Given the description of an element on the screen output the (x, y) to click on. 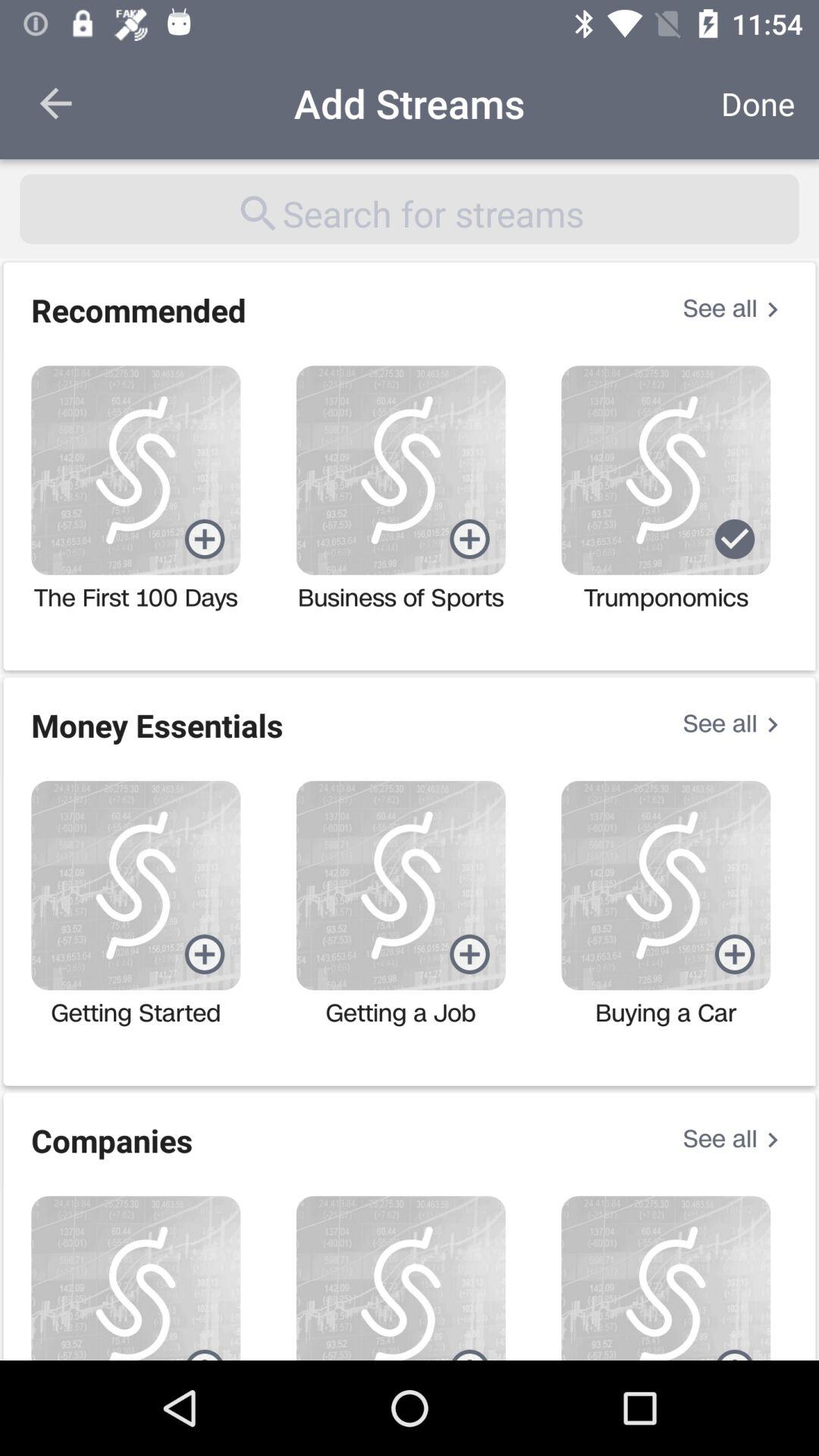
choose the icon above the recommended icon (409, 208)
